Given the description of an element on the screen output the (x, y) to click on. 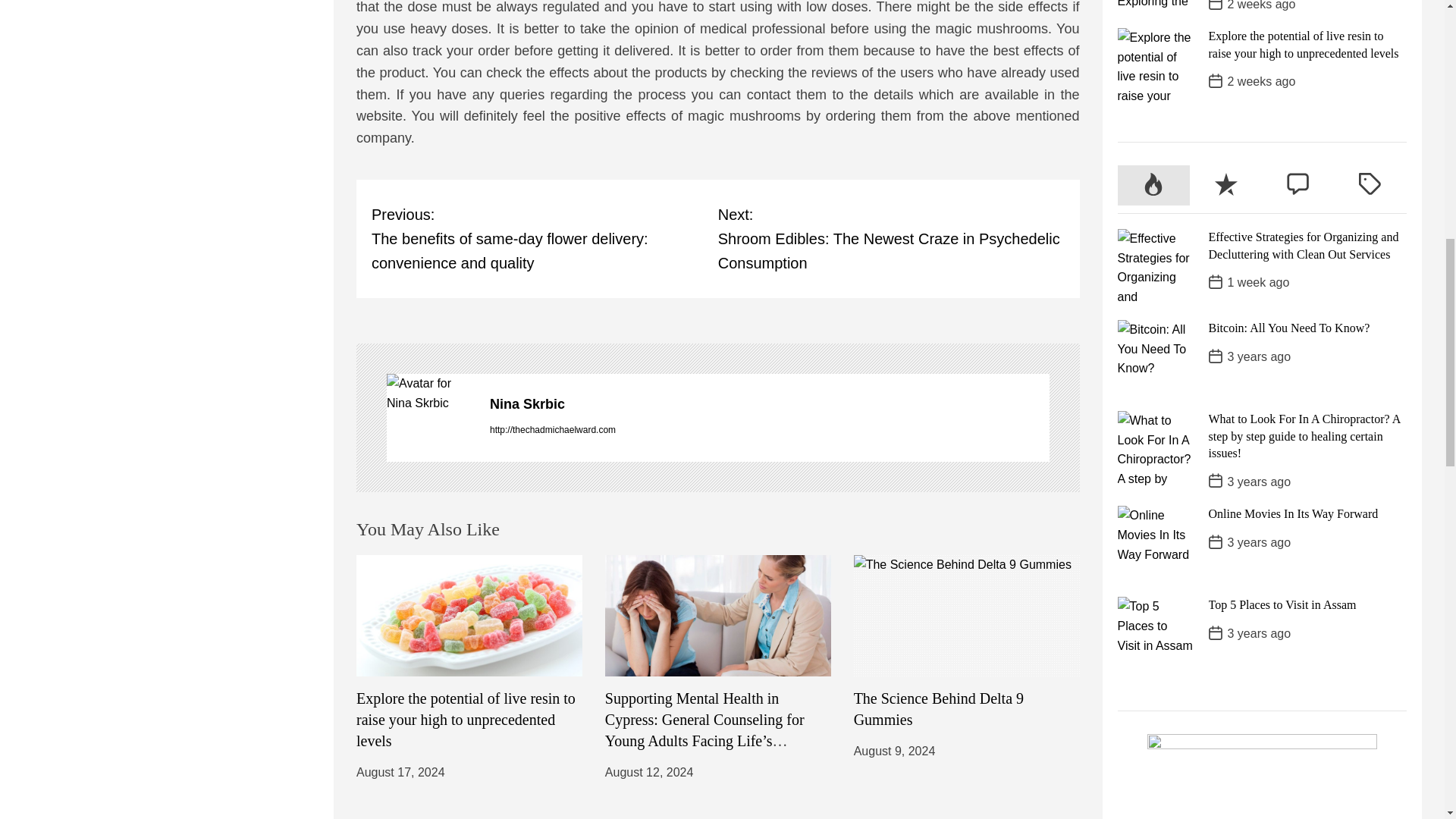
Nina Skrbic (430, 392)
Nina Skrbic (769, 403)
The Science Behind Delta 9 Gummies (938, 709)
Nina Skrbic (769, 403)
